Given the description of an element on the screen output the (x, y) to click on. 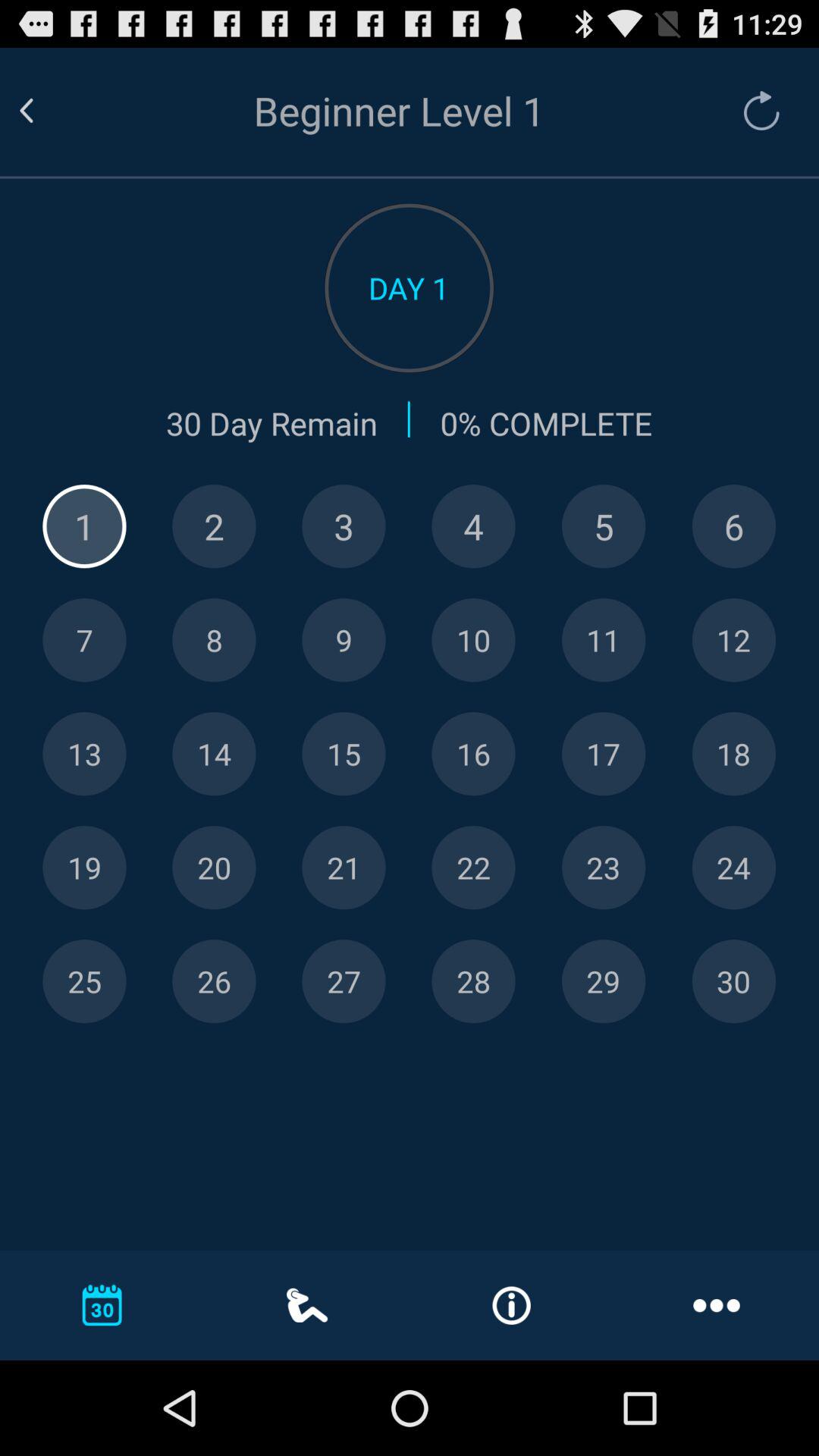
display day 1 (84, 526)
